Given the description of an element on the screen output the (x, y) to click on. 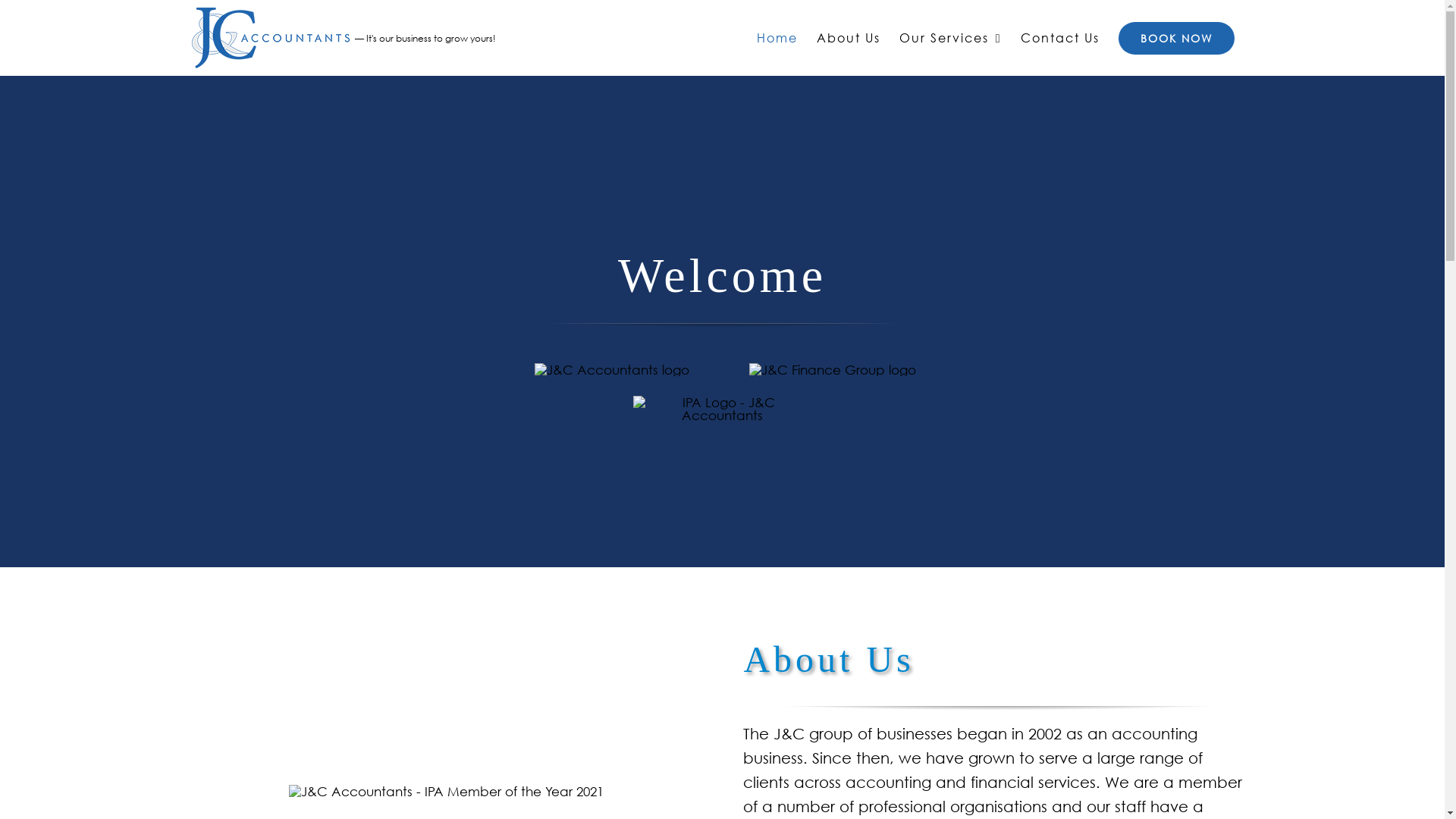
J&C Finance Group logo simple Element type: hover (832, 369)
About Us Element type: text (848, 37)
J&C Accountants logo simple Element type: hover (611, 369)
BOOK NOW Element type: text (1175, 37)
Home Element type: text (776, 37)
Our Services Element type: text (950, 37)
Contact Us Element type: text (1059, 37)
